Given the description of an element on the screen output the (x, y) to click on. 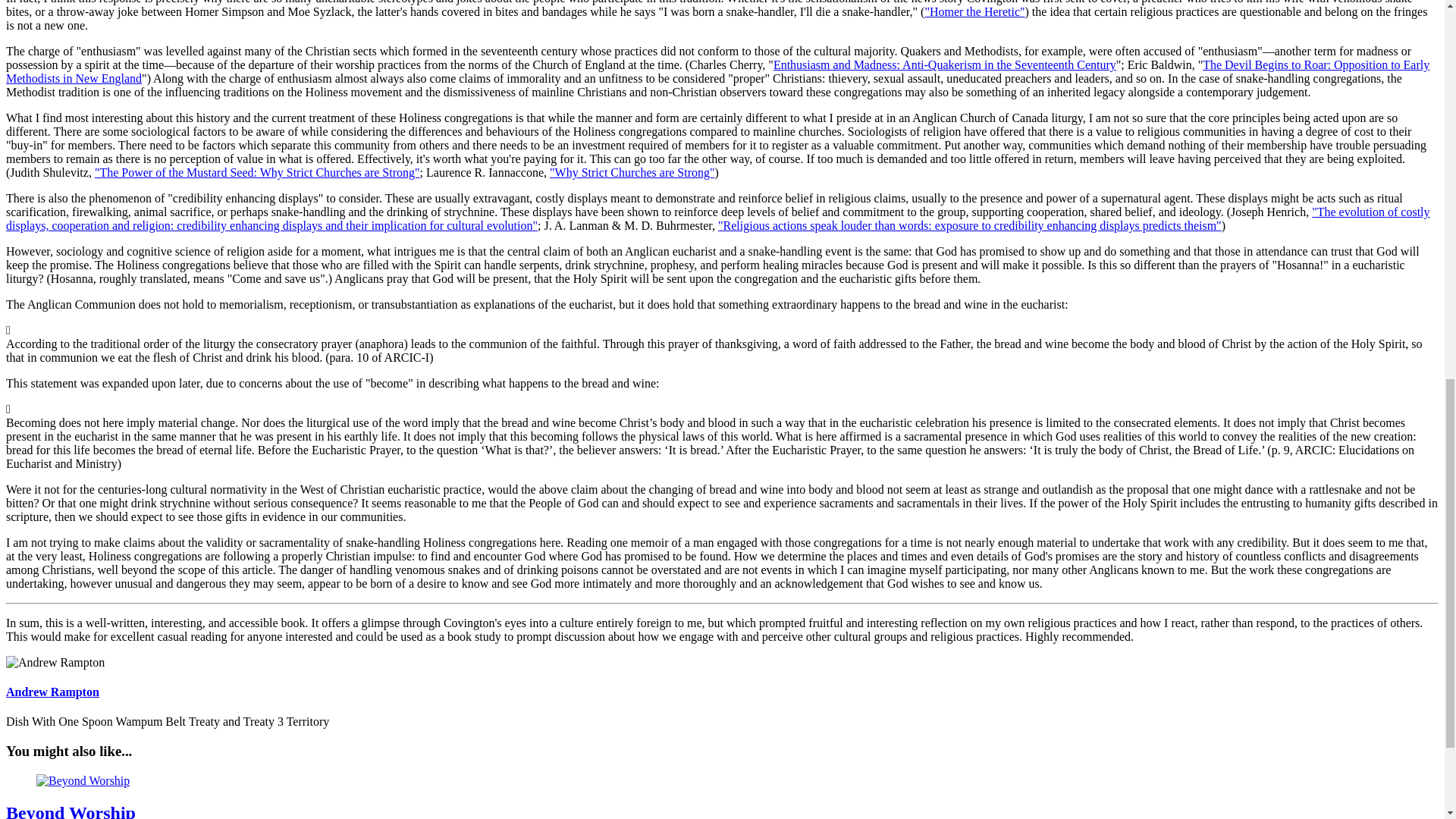
Beyond Worship (70, 811)
"Why Strict Churches are Strong" (632, 172)
"Homer the Heretic" (974, 11)
Andrew Rampton (52, 691)
